Given the description of an element on the screen output the (x, y) to click on. 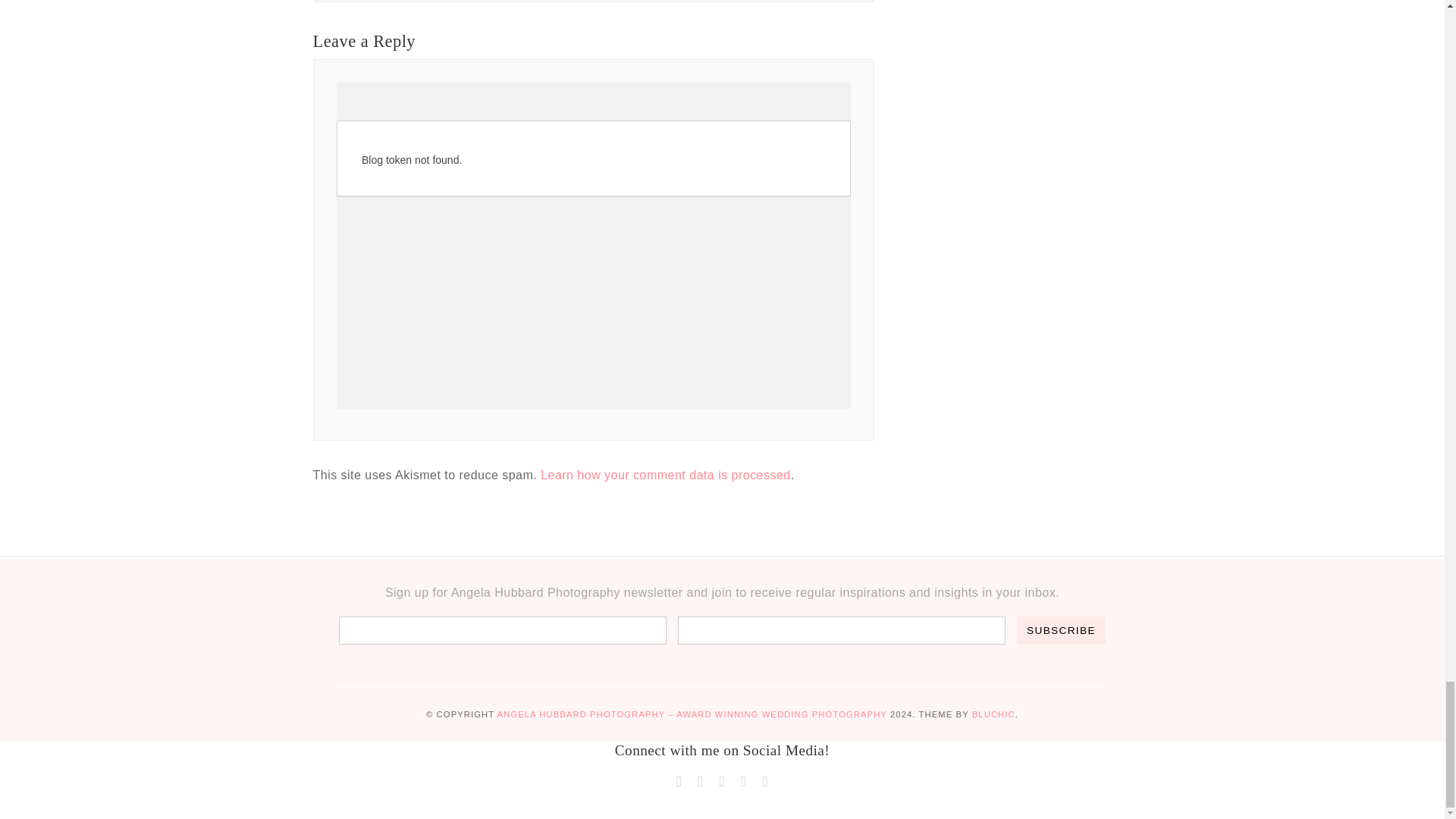
Subscribe (1060, 630)
